Given the description of an element on the screen output the (x, y) to click on. 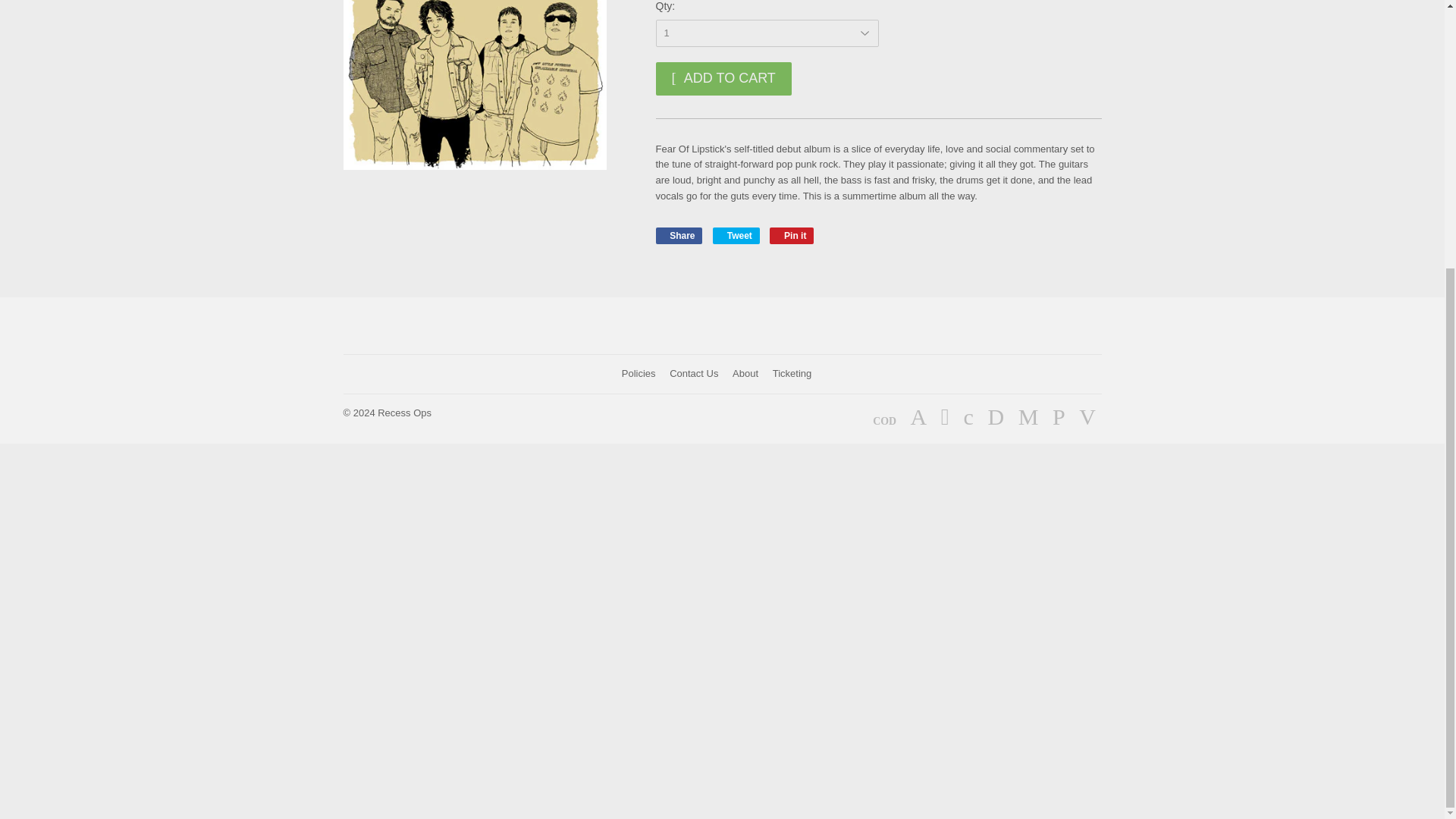
Share on Facebook (678, 235)
Pin on Pinterest (791, 235)
Tweet on Twitter (736, 235)
